Given the description of an element on the screen output the (x, y) to click on. 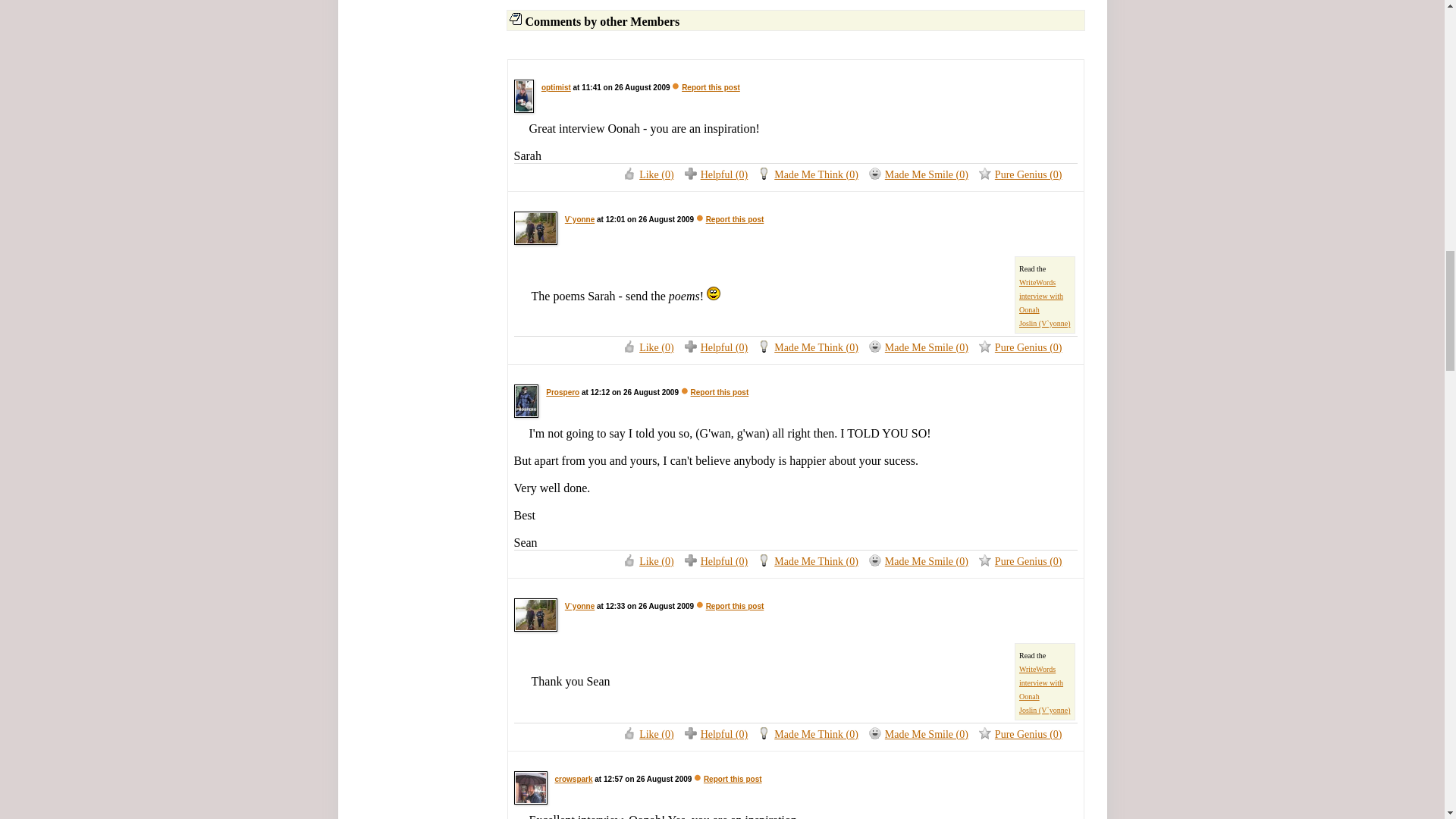
Prospero (562, 392)
Report this post (710, 87)
Report this post (735, 219)
optimist (555, 87)
Report this post (719, 392)
